Given the description of an element on the screen output the (x, y) to click on. 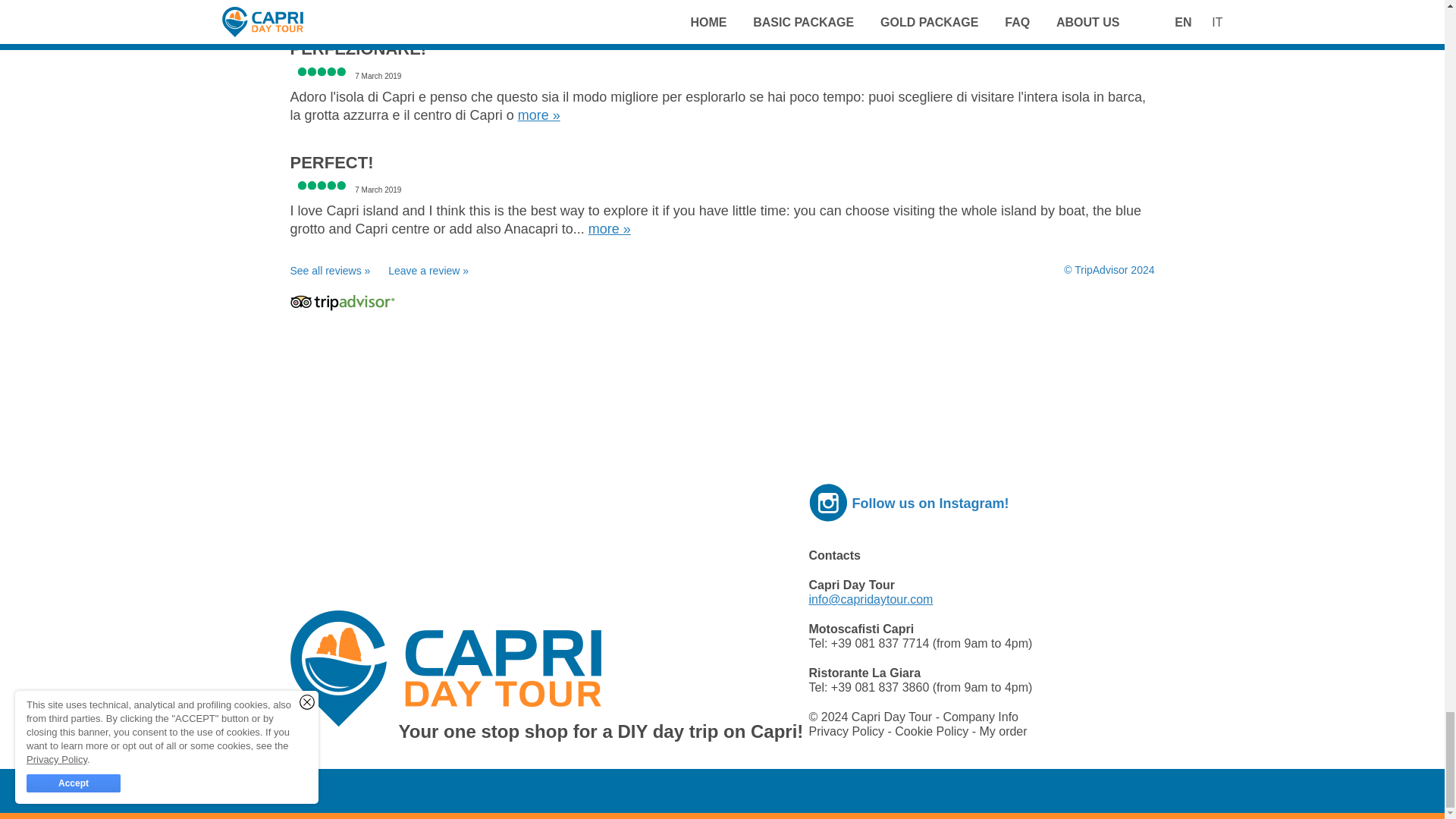
Company Info (979, 716)
Follow us on Instagram! (930, 503)
My order (1002, 730)
Privacy Policy (847, 730)
Cookie Policy (933, 730)
